Given the description of an element on the screen output the (x, y) to click on. 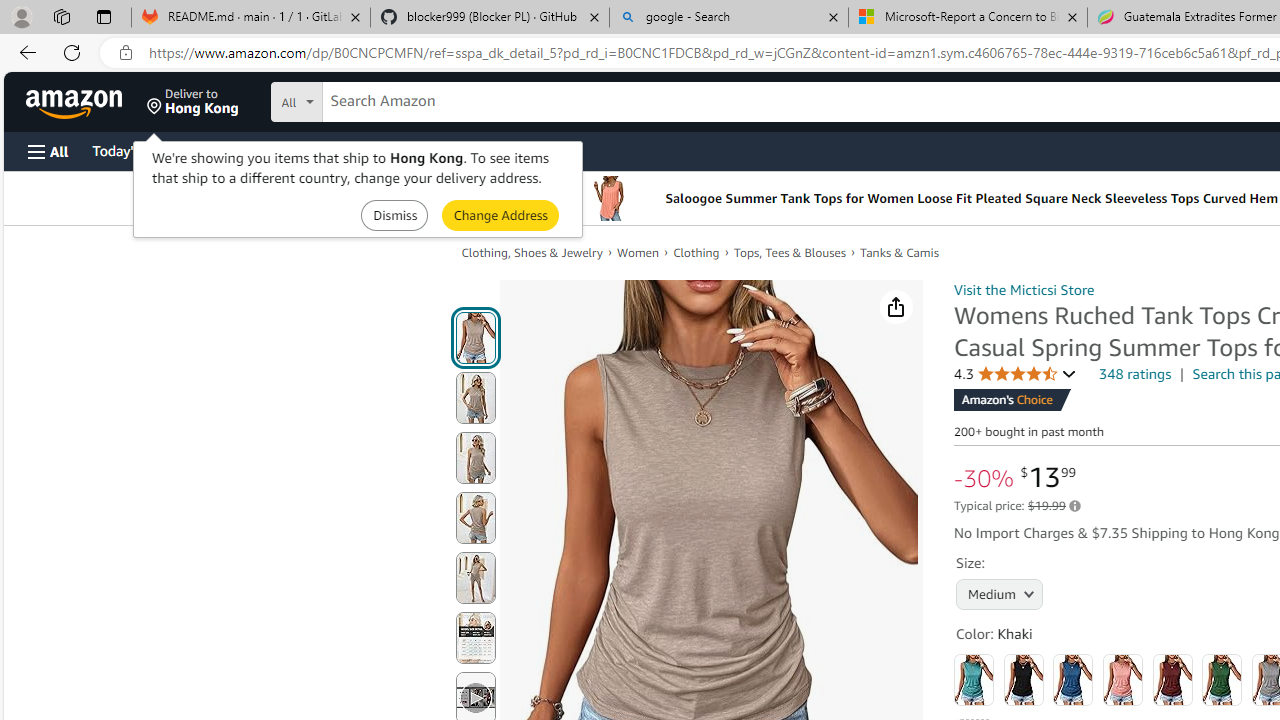
Tanks & Camis (899, 252)
Black (1023, 679)
Coral (1123, 679)
Coral (1123, 679)
4.3 4.3 out of 5 stars (1015, 373)
Deliver to Hong Kong (193, 101)
Women (638, 252)
Aqua (974, 679)
348 ratings (1135, 374)
